Given the description of an element on the screen output the (x, y) to click on. 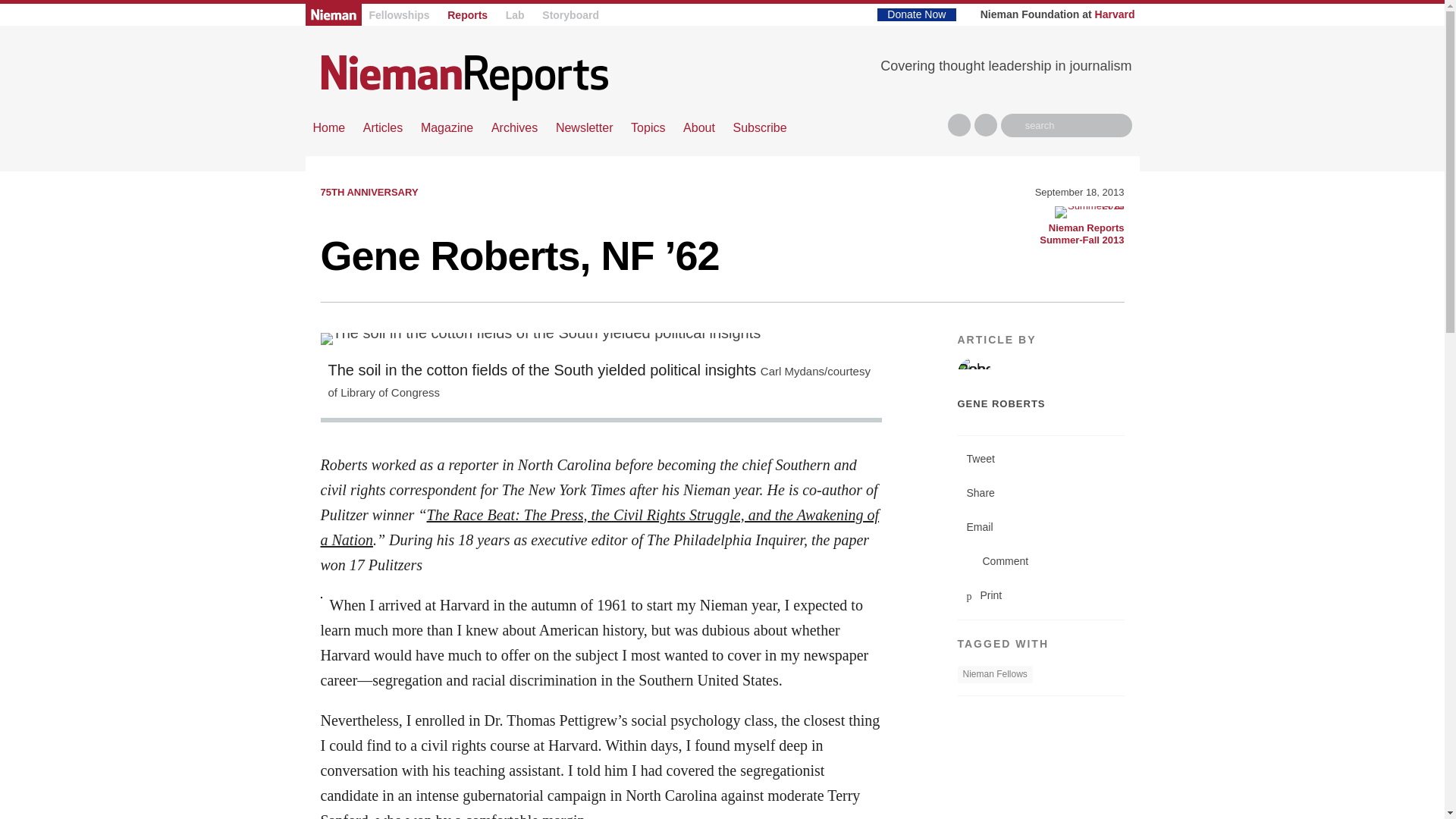
Donate Now (915, 14)
Home (464, 76)
Storyboard (569, 15)
Fellowships (398, 15)
Nieman Reports Summer-Fall 2013 (1089, 212)
Subscribe (759, 127)
Lab (514, 15)
Magazine (446, 127)
Type search term here (1066, 125)
Reports (466, 15)
